Given the description of an element on the screen output the (x, y) to click on. 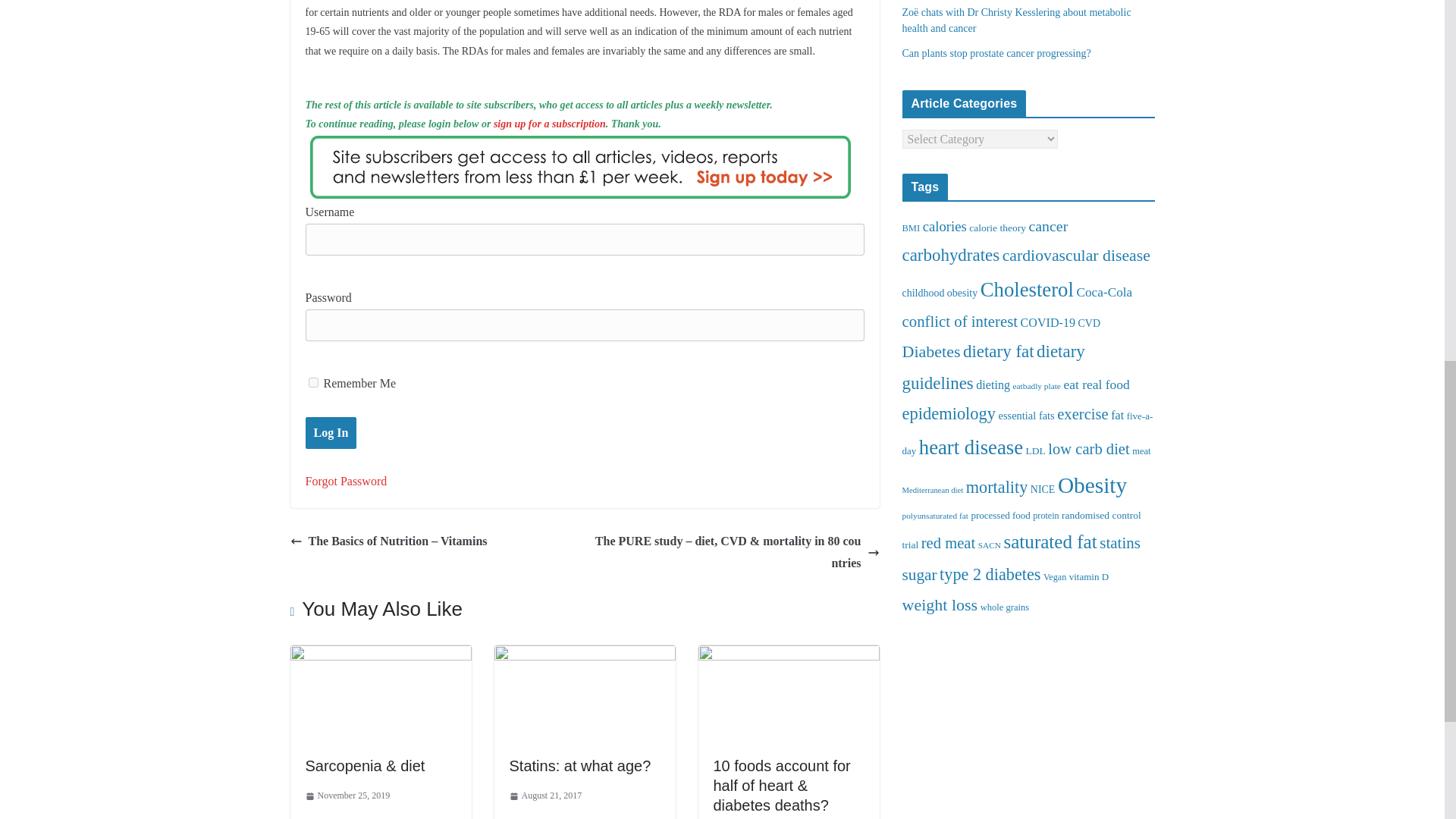
Statins: at what age? (579, 765)
Statins: at what age? (585, 655)
Log In (330, 432)
forever (312, 382)
11:29 am (347, 795)
10:45 am (545, 795)
